Given the description of an element on the screen output the (x, y) to click on. 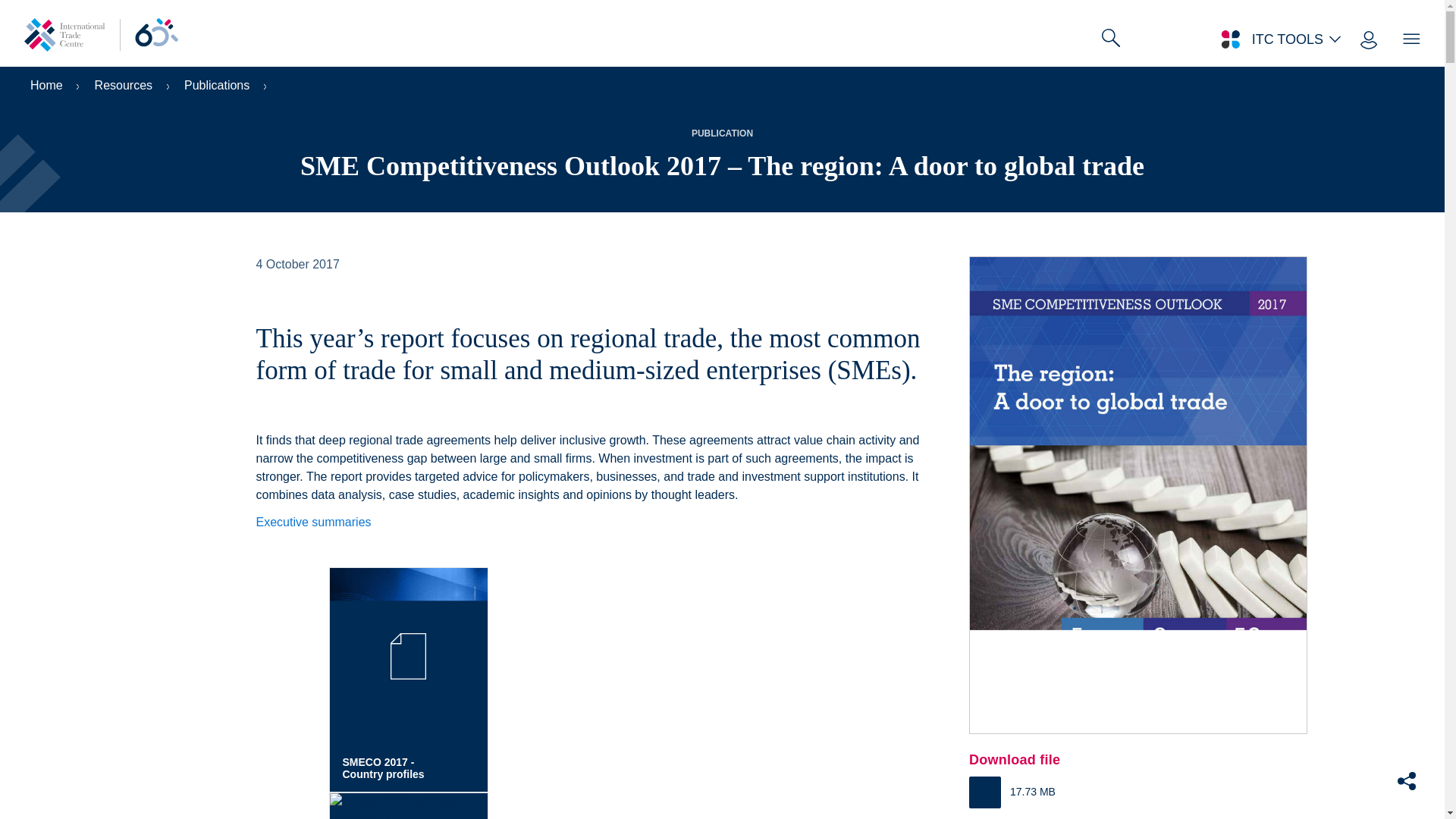
Login (1368, 39)
